Given the description of an element on the screen output the (x, y) to click on. 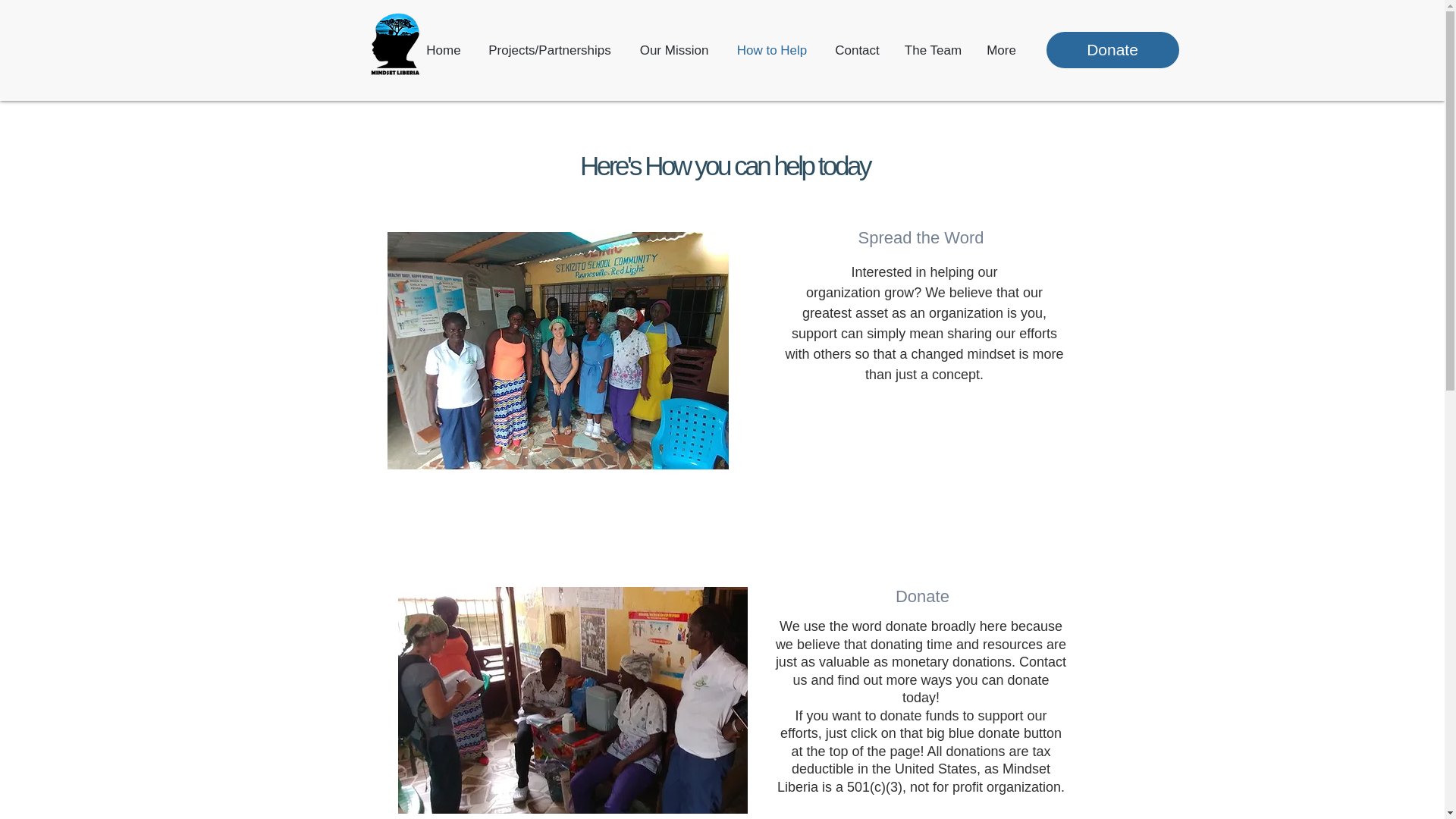
How to Help (772, 50)
Our Mission (674, 50)
Contact (857, 50)
The Team (933, 50)
Home (443, 50)
Donate (1112, 49)
